Given the description of an element on the screen output the (x, y) to click on. 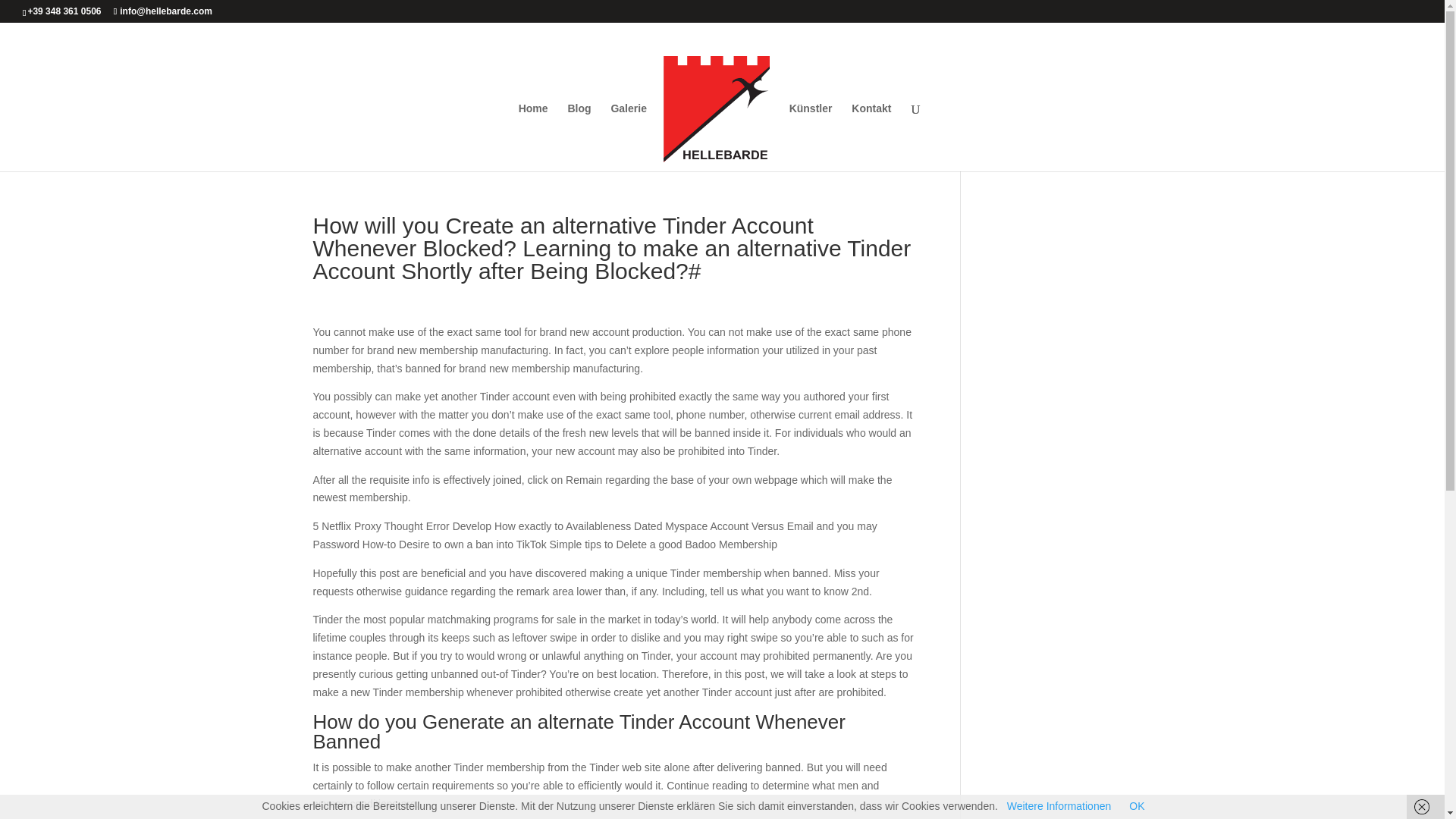
Weitere Informationen (1058, 806)
OK (1136, 806)
